Given the description of an element on the screen output the (x, y) to click on. 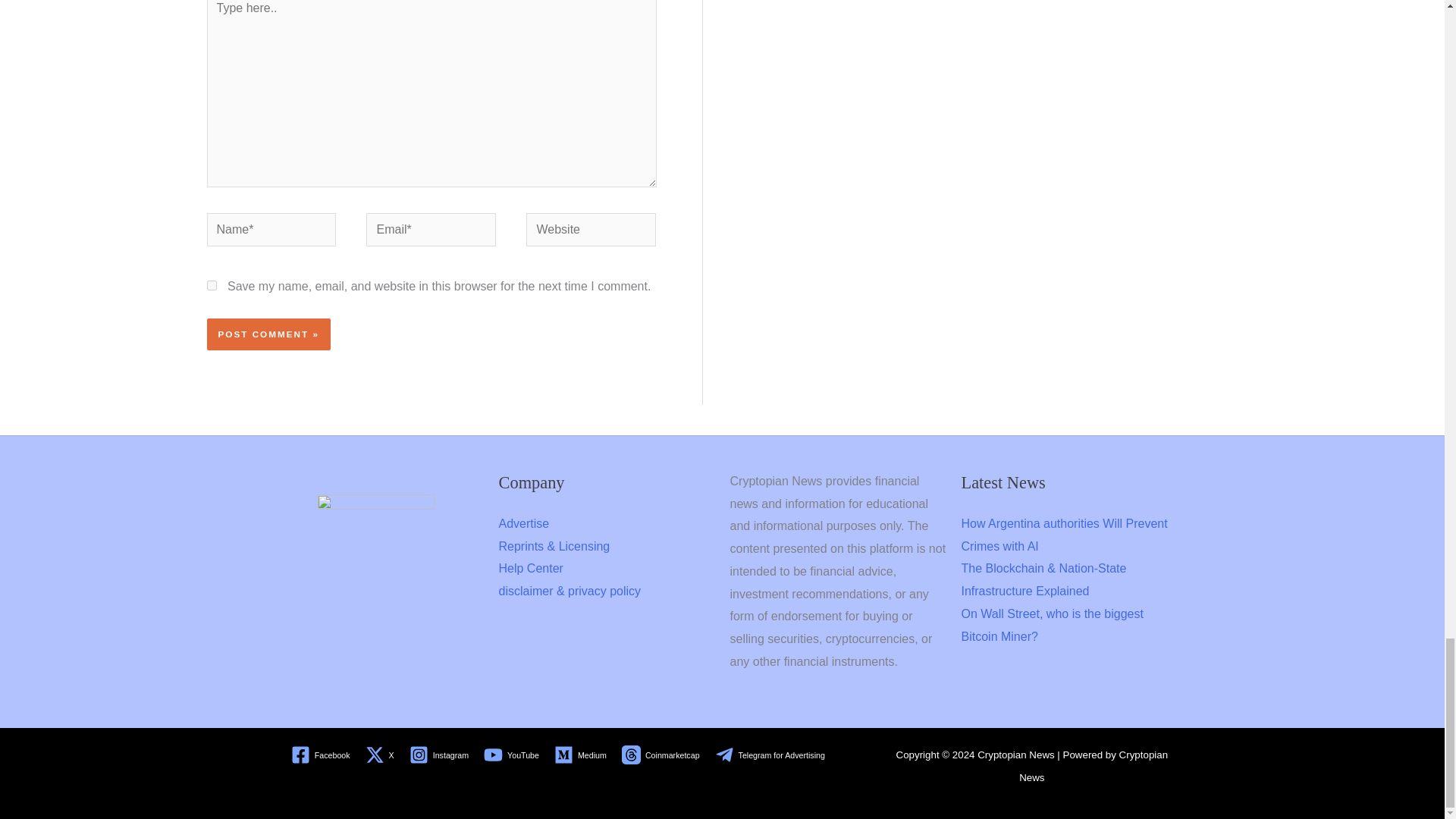
yes (210, 285)
